Given the description of an element on the screen output the (x, y) to click on. 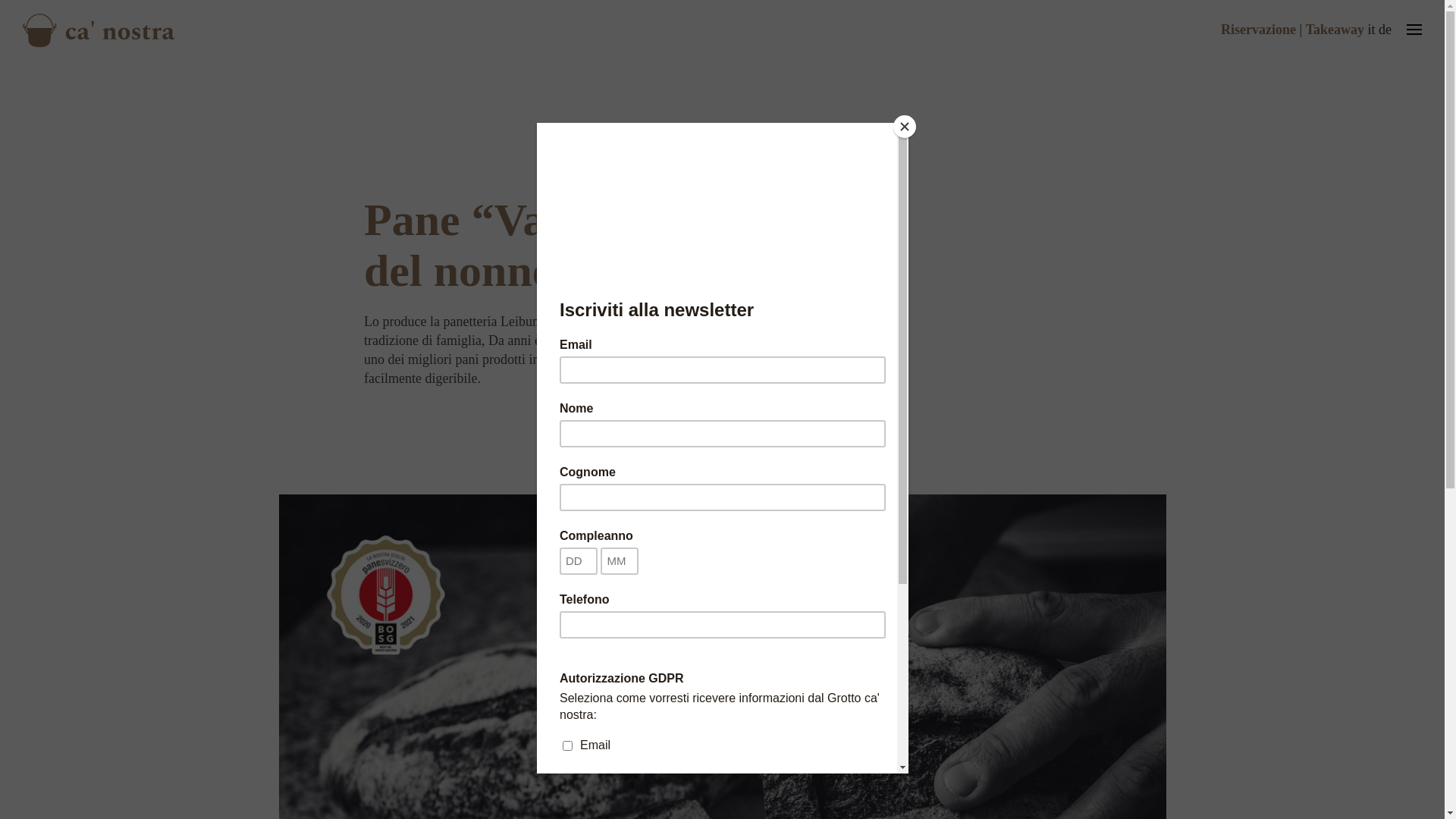
Riservazione Element type: text (1257, 29)
panetteria Leibundgut Element type: text (502, 321)
de Element type: text (1384, 29)
it Element type: text (1370, 29)
